Given the description of an element on the screen output the (x, y) to click on. 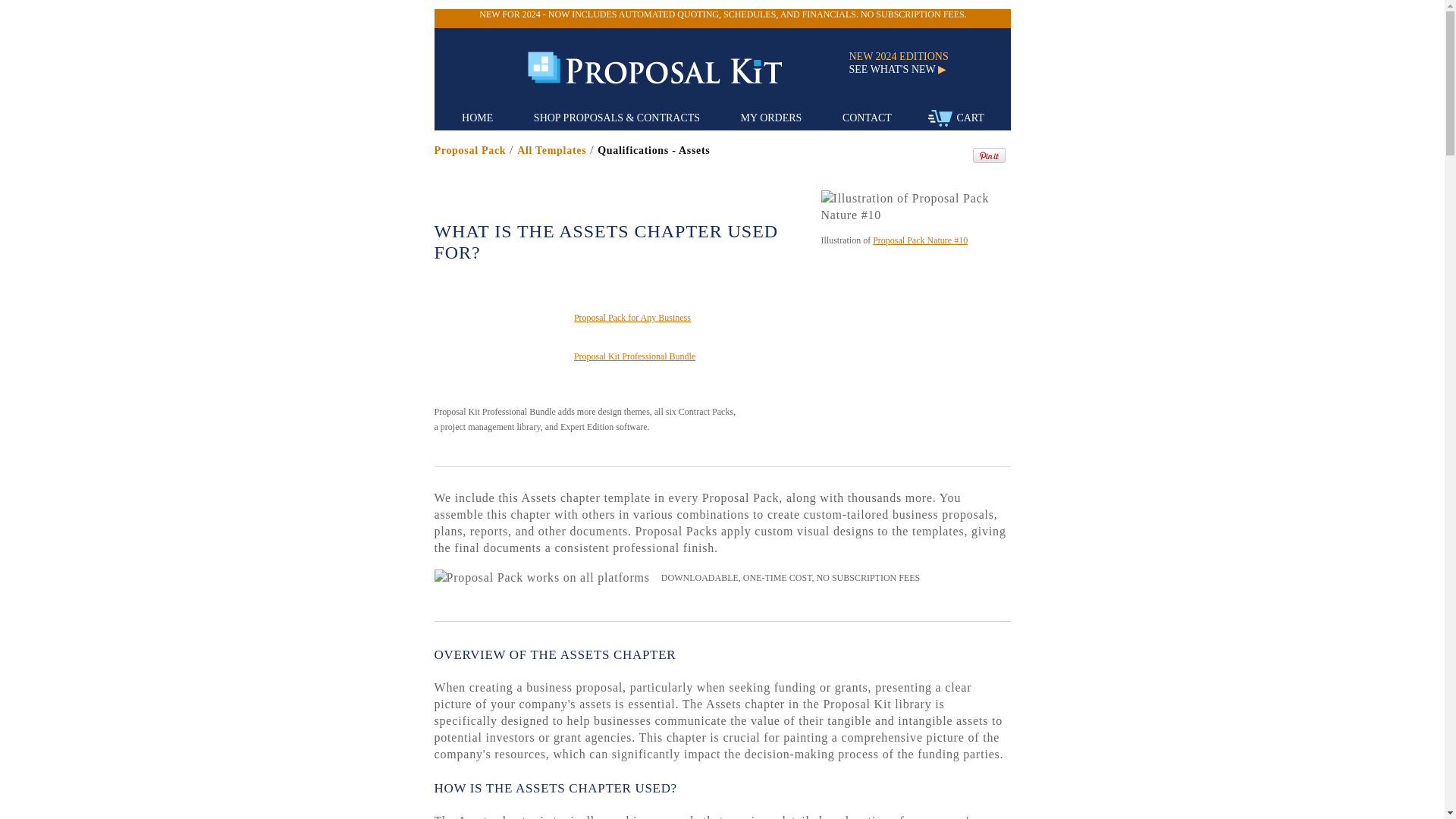
Proposal Kit - It's all About Trust (667, 68)
MY ORDERS (771, 118)
Proposal Kit Product Upgrades (905, 69)
HOME (477, 118)
CART (956, 118)
Proposal Kit Home (477, 118)
Major Proposal Kit version upgrade just released. (722, 14)
Shopping Cart (940, 118)
Business Proposal Assets Template (551, 150)
